Given the description of an element on the screen output the (x, y) to click on. 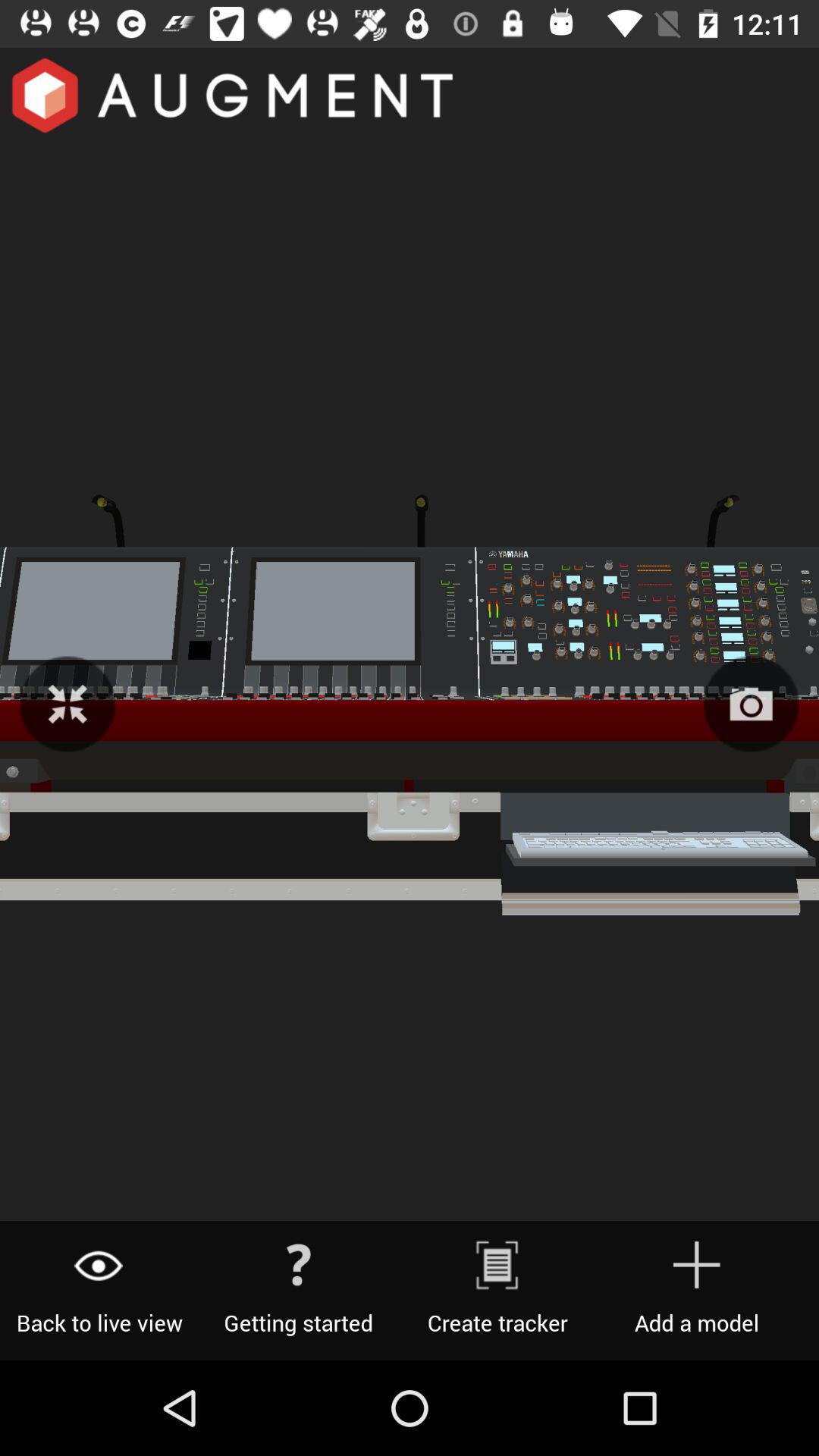
take picture (751, 703)
